Given the description of an element on the screen output the (x, y) to click on. 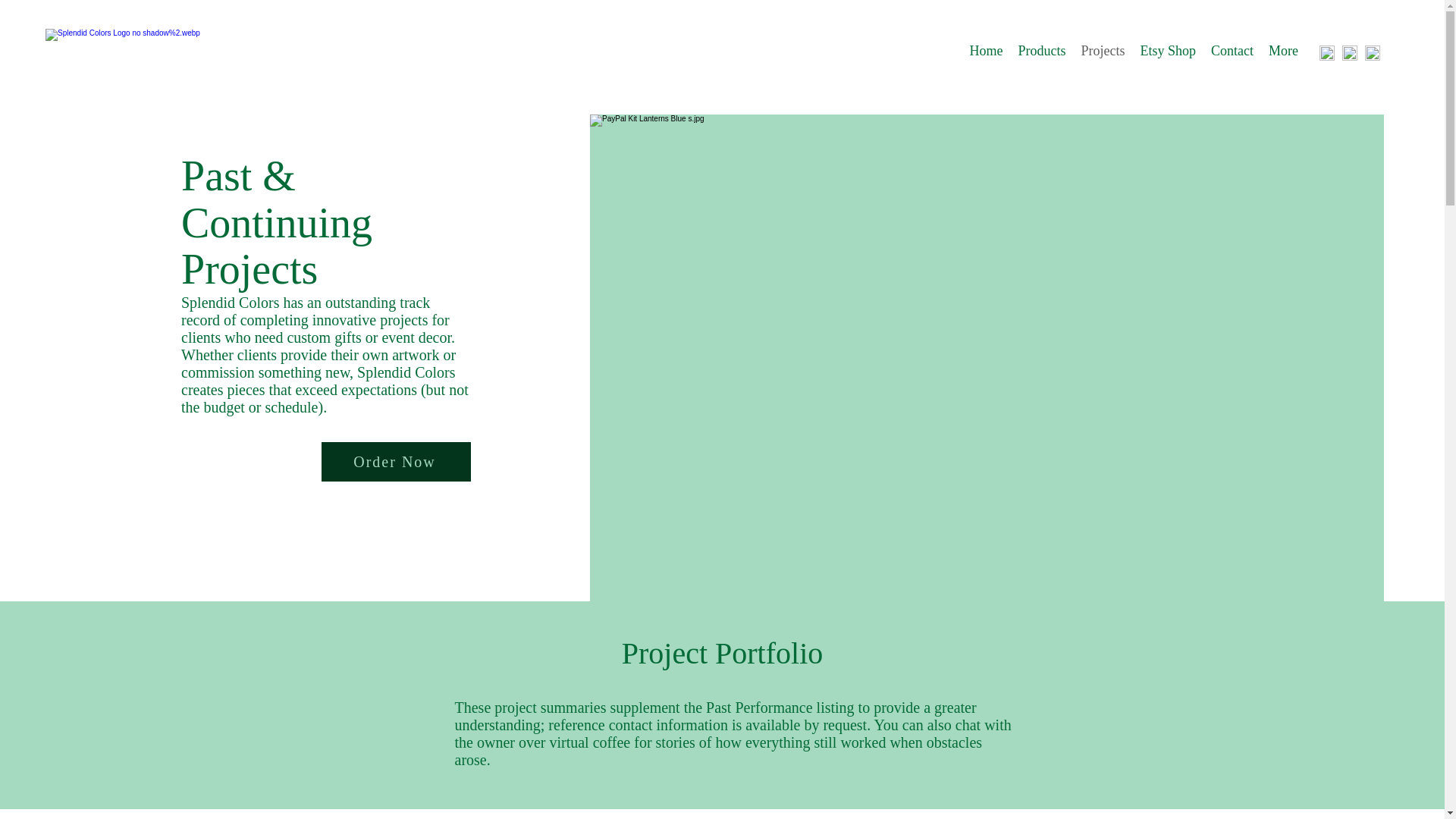
Products (1041, 52)
Etsy Shop (1168, 52)
Projects (1102, 52)
Contact (1232, 52)
Home (985, 52)
Order Now (395, 461)
